Given the description of an element on the screen output the (x, y) to click on. 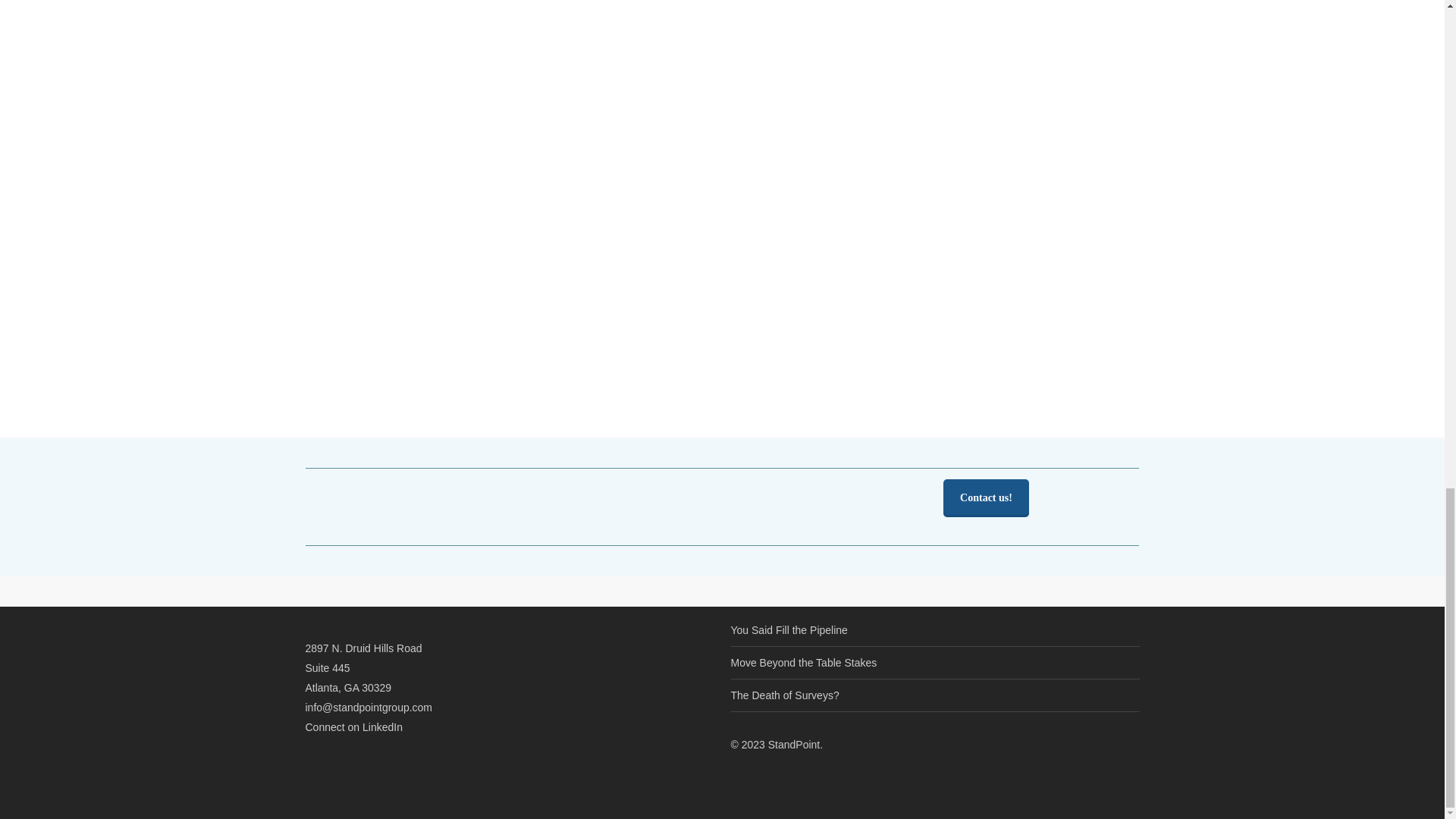
Contact us! (986, 497)
